Given the description of an element on the screen output the (x, y) to click on. 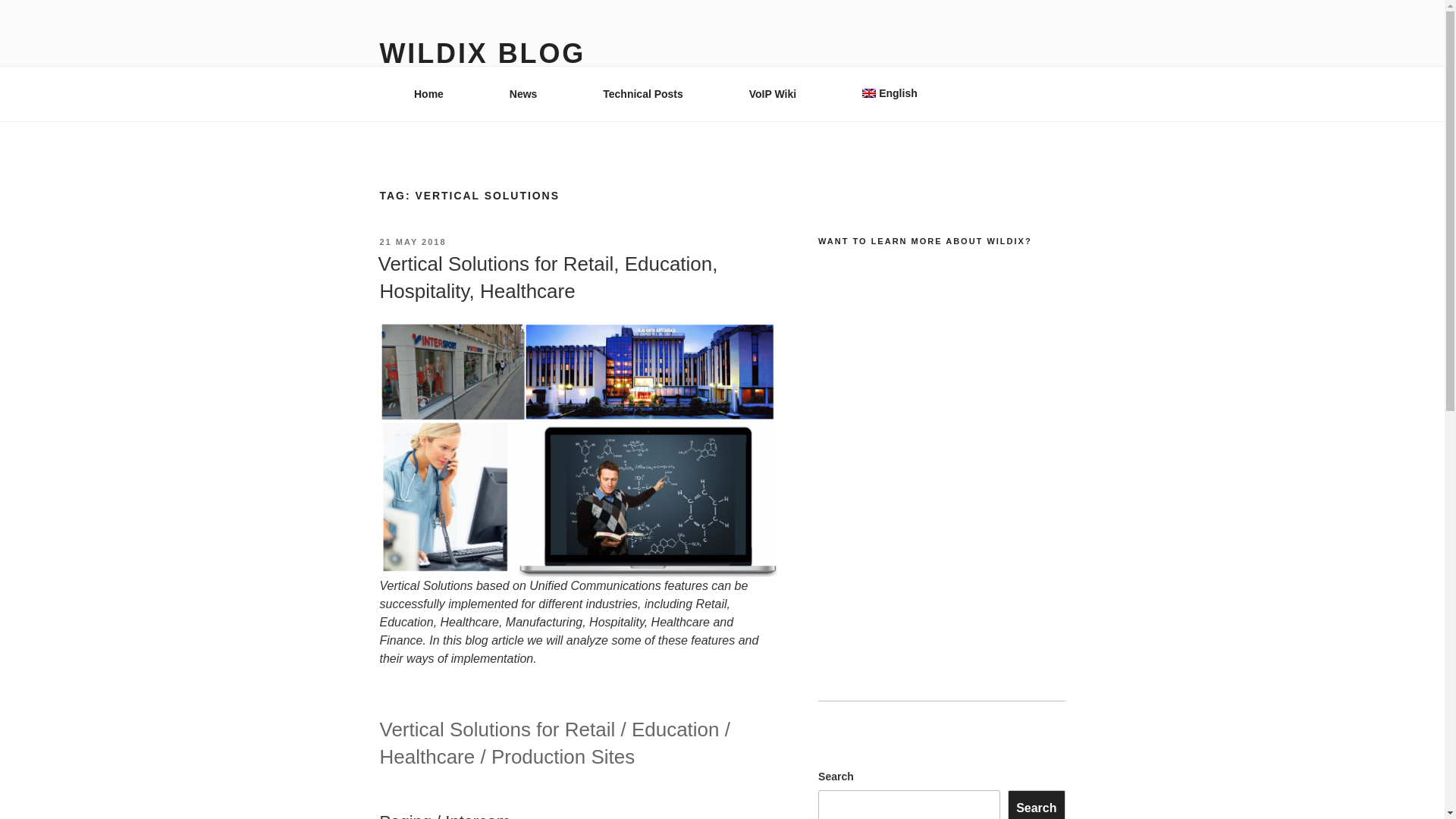
WILDIX BLOG (481, 52)
English (889, 92)
Technical Posts (643, 94)
21 MAY 2018 (411, 241)
Home (428, 94)
Search (1035, 804)
VoIP Wiki (772, 94)
English (889, 92)
News (523, 94)
